Given the description of an element on the screen output the (x, y) to click on. 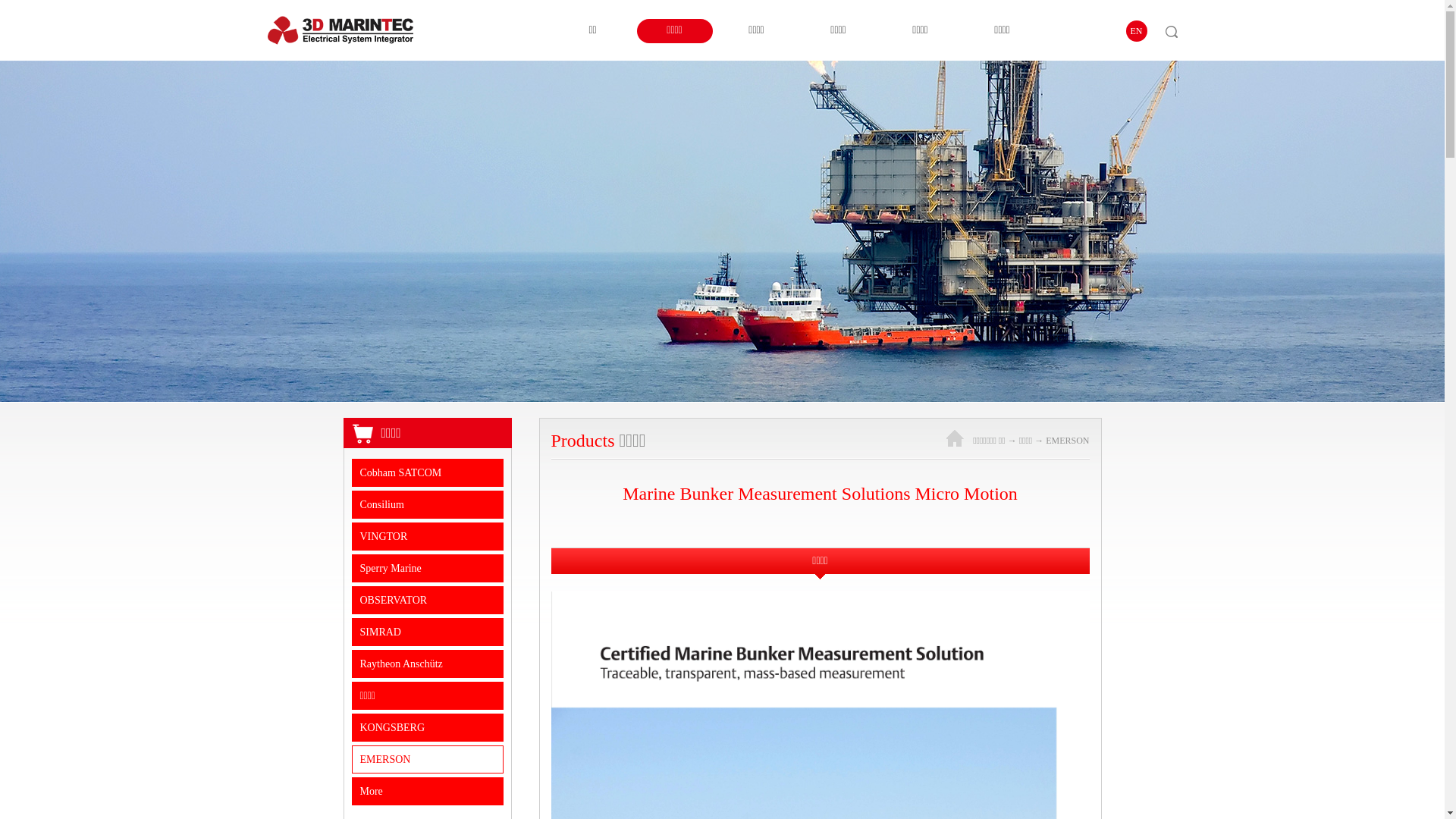
EMERSON Element type: text (427, 759)
OBSERVATOR Element type: text (427, 600)
Sperry Marine Element type: text (427, 568)
EMERSON Element type: text (1066, 440)
More Element type: text (427, 791)
SIMRAD Element type: text (427, 632)
Consilium Element type: text (427, 504)
Cobham SATCOM Element type: text (427, 472)
VINGTOR Element type: text (427, 536)
EN Element type: text (1135, 30)
KONGSBERG Element type: text (427, 727)
